Given the description of an element on the screen output the (x, y) to click on. 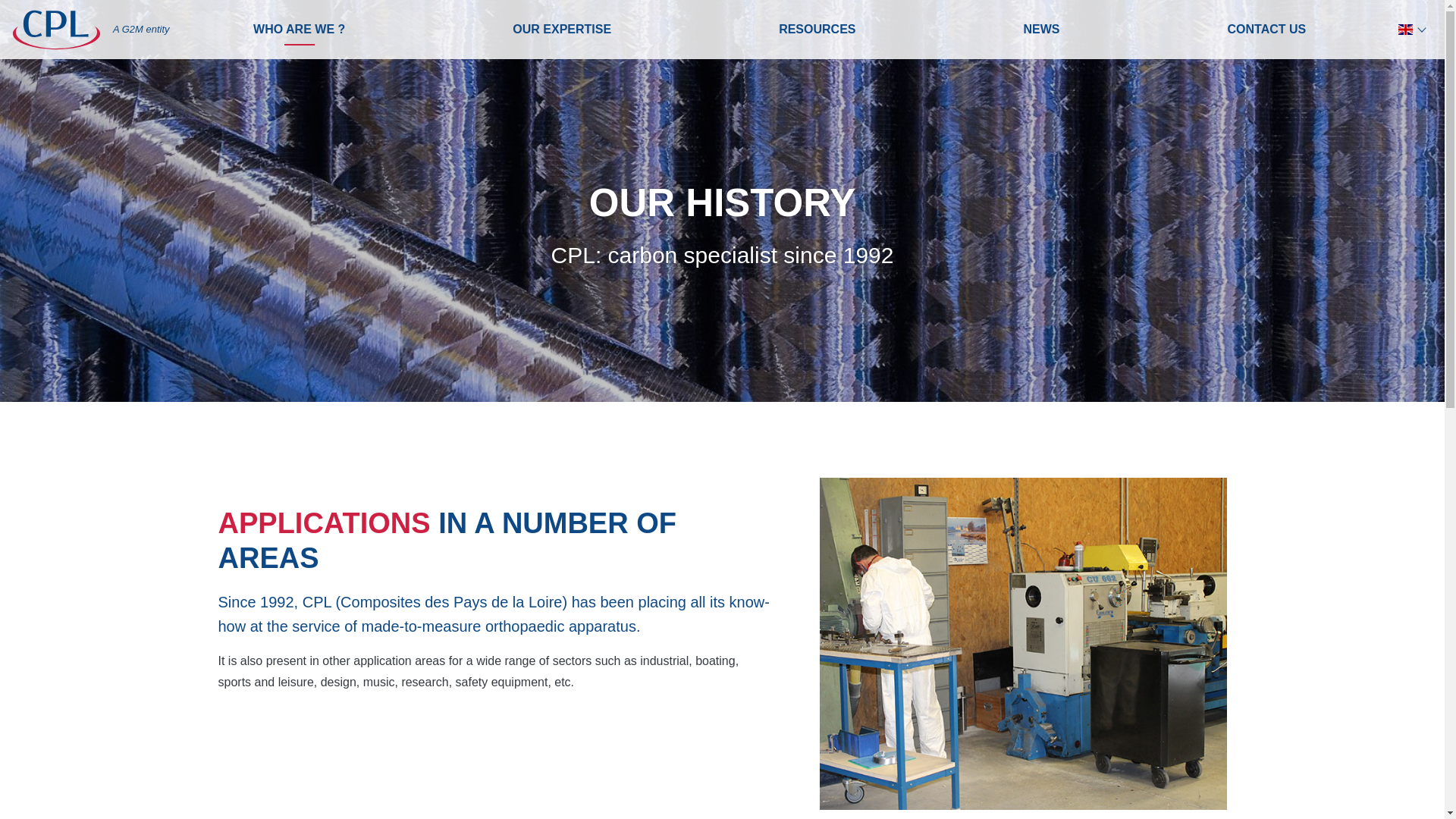
CONTACT US (1266, 29)
English (1411, 29)
RESOURCES (817, 29)
WHO ARE WE ? (299, 29)
OUR EXPERTISE (561, 29)
